Given the description of an element on the screen output the (x, y) to click on. 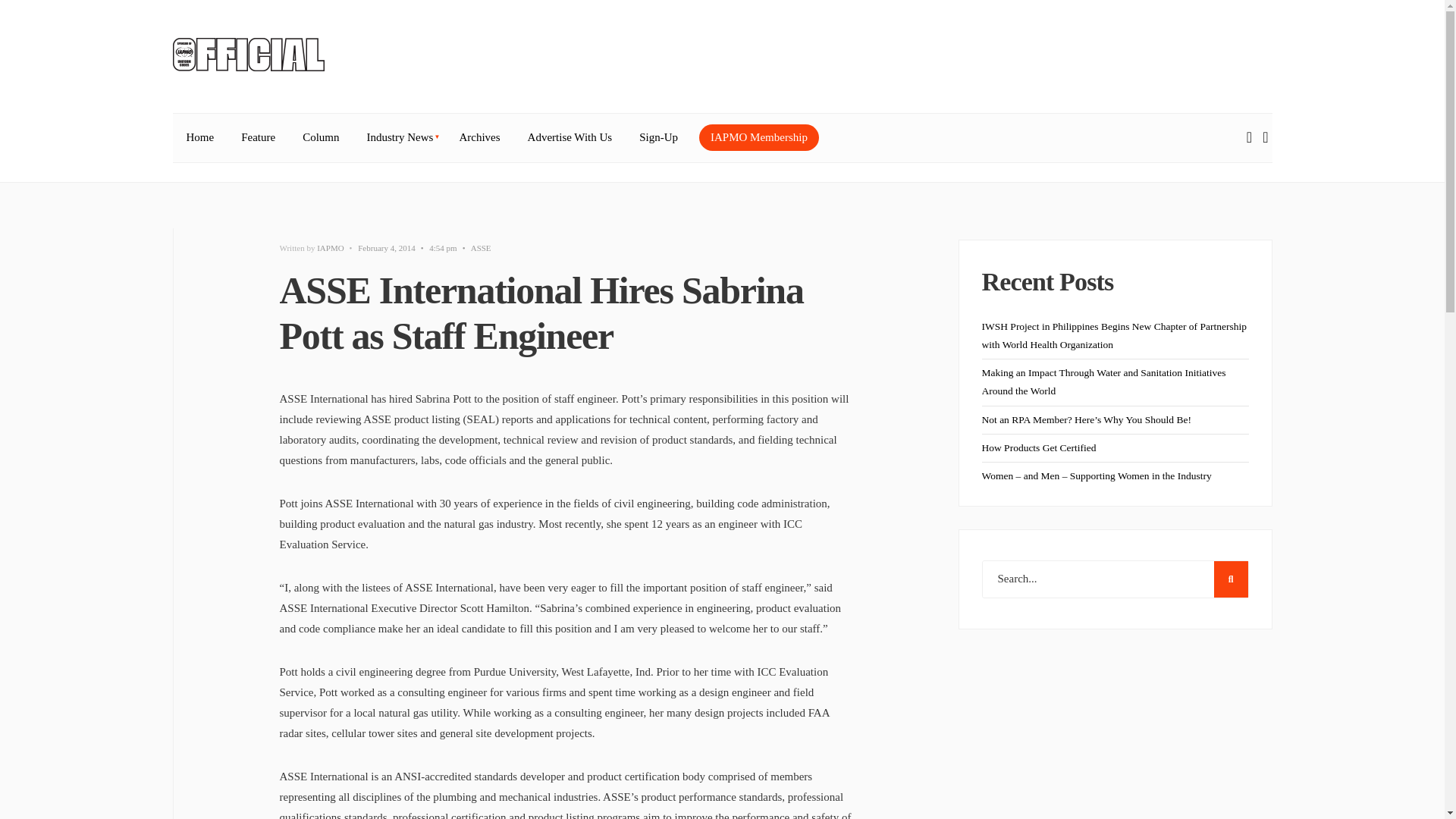
IAPMO (330, 247)
Sign-Up (658, 137)
Feature (257, 137)
Search... (1114, 579)
IAPMO Membership (758, 137)
How Products Get Certified (1038, 447)
ASSE (481, 247)
Column (320, 137)
Advertise With Us (569, 137)
